Given the description of an element on the screen output the (x, y) to click on. 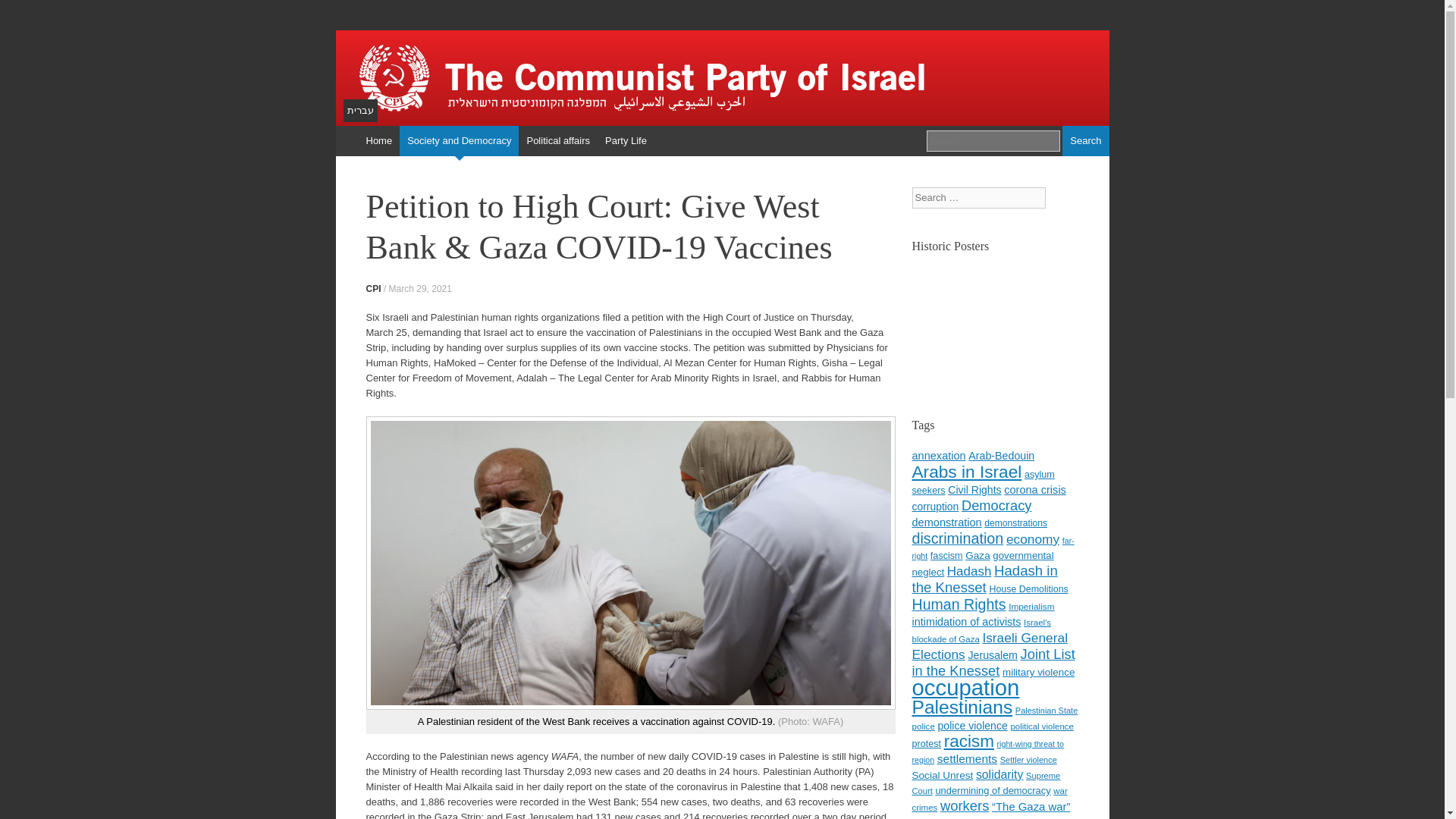
Skip to content (342, 155)
Search (1085, 141)
Search (1085, 141)
Party Life (624, 141)
Home (378, 141)
Society and Democracy (458, 141)
March 29, 2021 (419, 288)
Communist Party of Israel (721, 78)
Skip to content (342, 155)
Communist Party of Israel (721, 78)
CPI (372, 288)
Political affairs (557, 141)
